Given the description of an element on the screen output the (x, y) to click on. 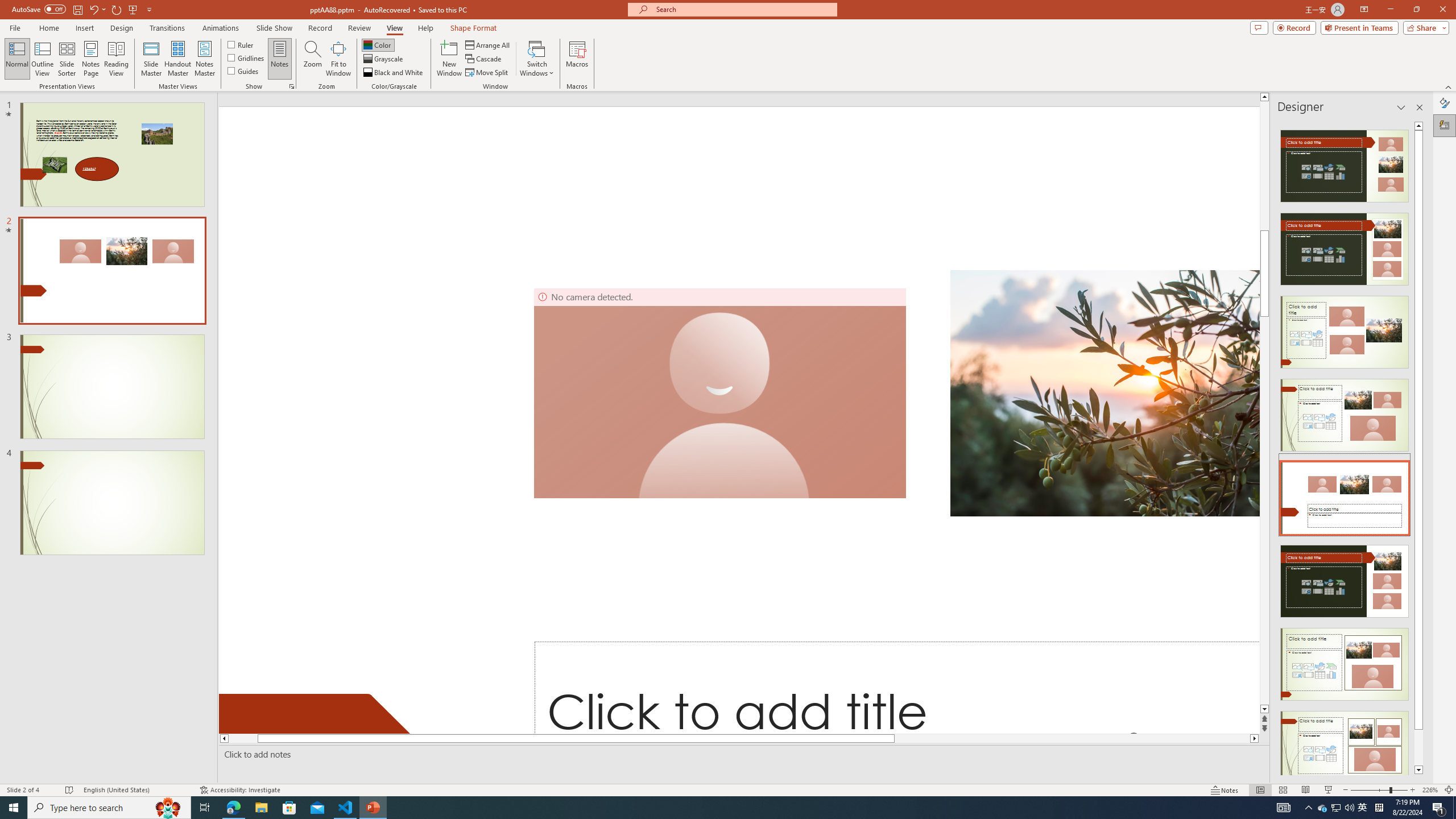
Guides (243, 69)
Cascade (484, 58)
Color (377, 44)
Camera 13, No camera detected. (719, 392)
